Given the description of an element on the screen output the (x, y) to click on. 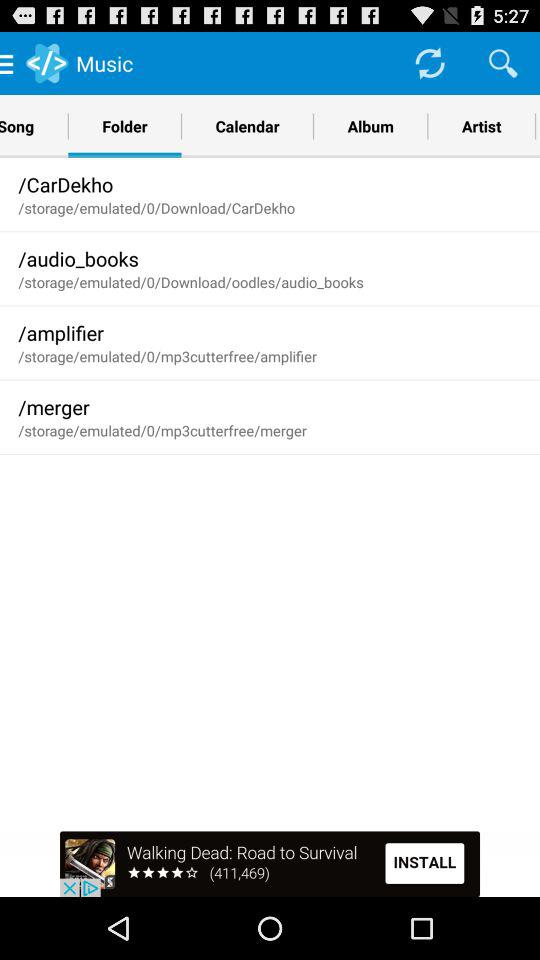
advertisement link (270, 864)
